Given the description of an element on the screen output the (x, y) to click on. 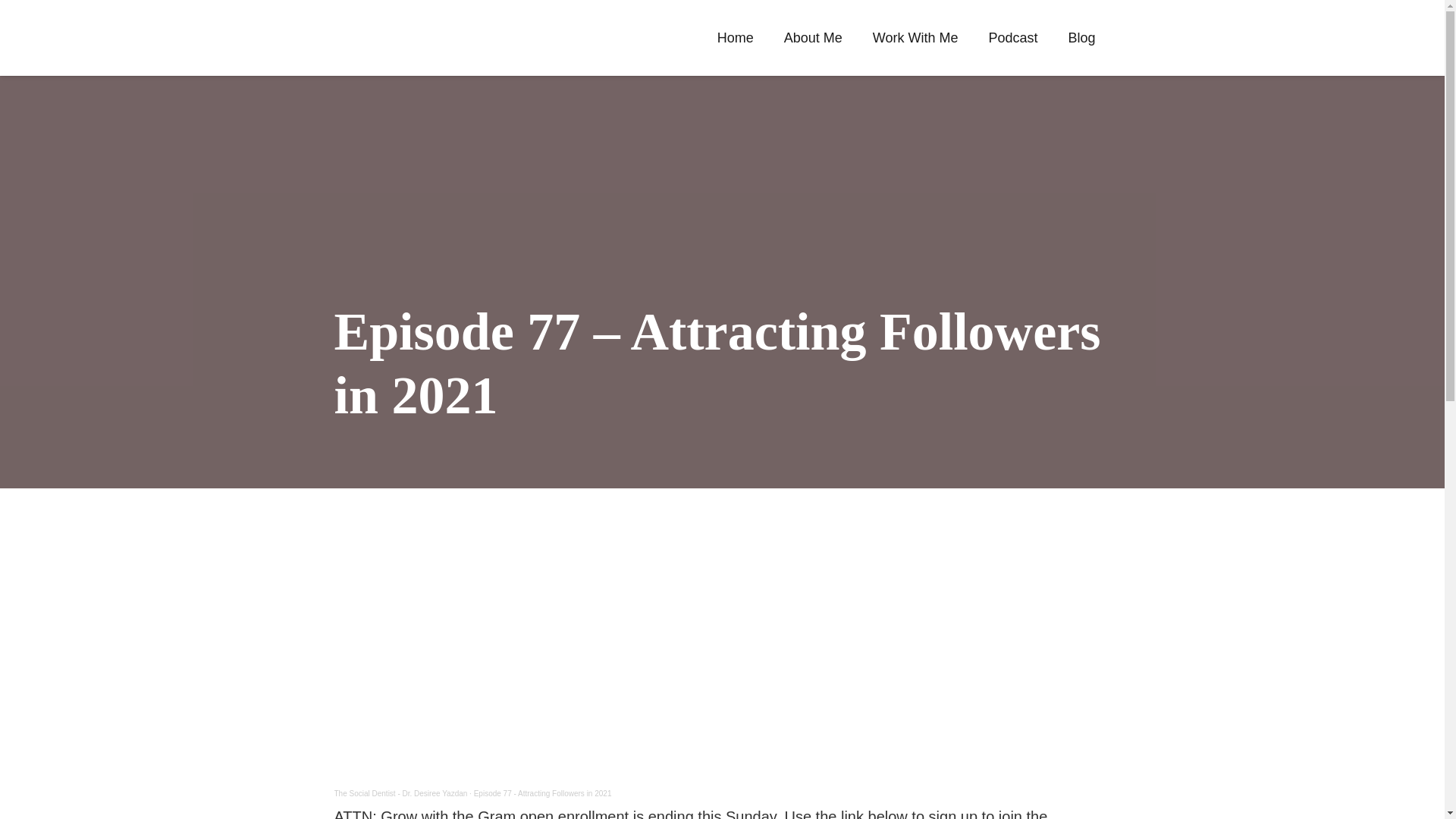
The Social Dentist - Dr. Desiree Yazdan (400, 793)
About Me (812, 37)
Work With Me (915, 37)
Home (734, 37)
Blog (1080, 37)
Podcast (1012, 37)
The Social Dentist - Dr. Desiree Yazdan (400, 793)
Episode 77 - Attracting Followers in 2021 (542, 793)
Episode 77 - Attracting Followers in 2021 (542, 793)
